Given the description of an element on the screen output the (x, y) to click on. 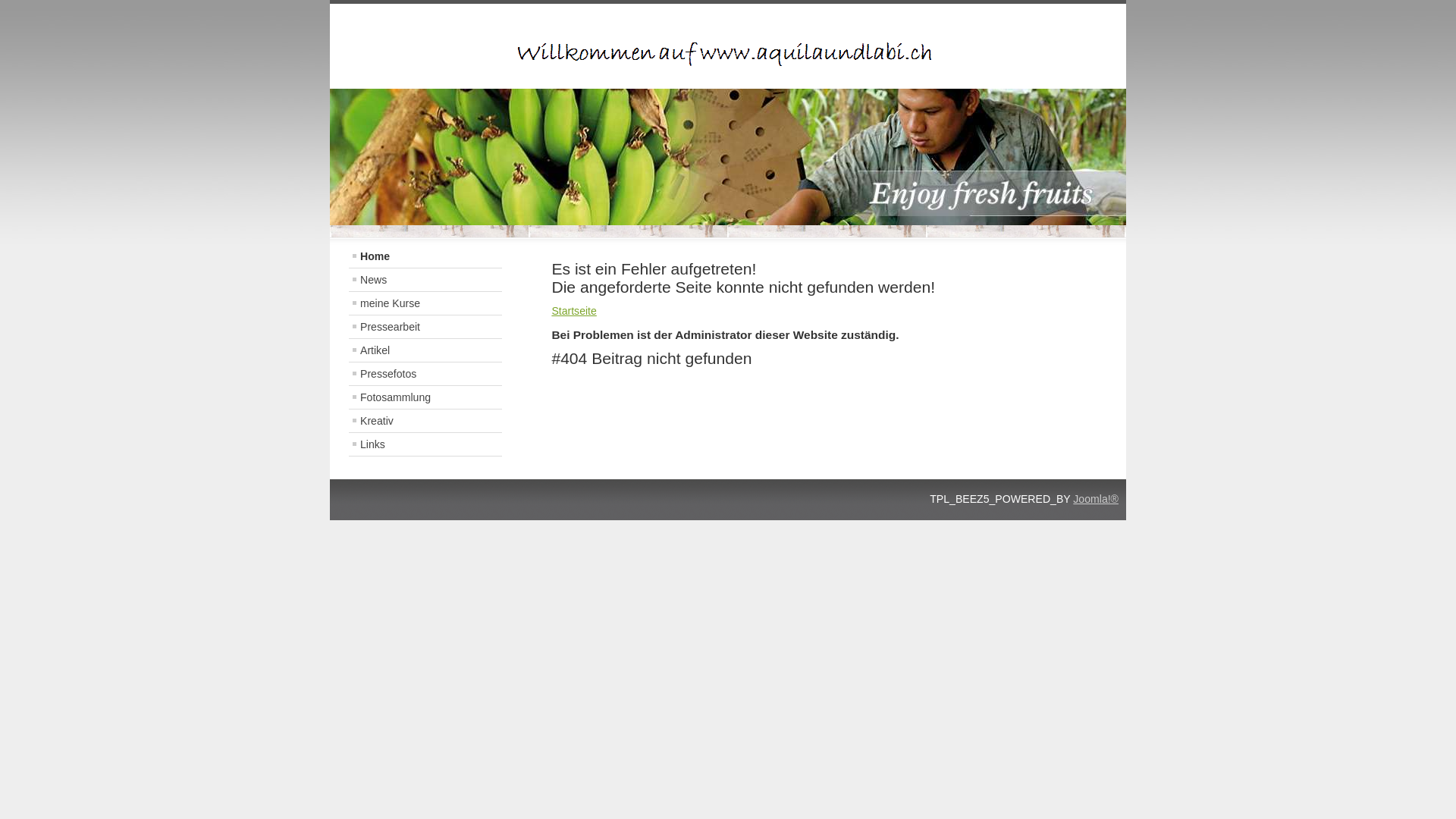
Pressearbeit Element type: text (425, 326)
News Element type: text (425, 279)
Pressefotos Element type: text (425, 373)
Startseite Element type: text (573, 310)
Home Element type: text (425, 255)
Kreativ Element type: text (425, 420)
meine Kurse Element type: text (425, 302)
Artikel Element type: text (425, 349)
Fotosammlung Element type: text (425, 396)
Links Element type: text (425, 444)
